Given the description of an element on the screen output the (x, y) to click on. 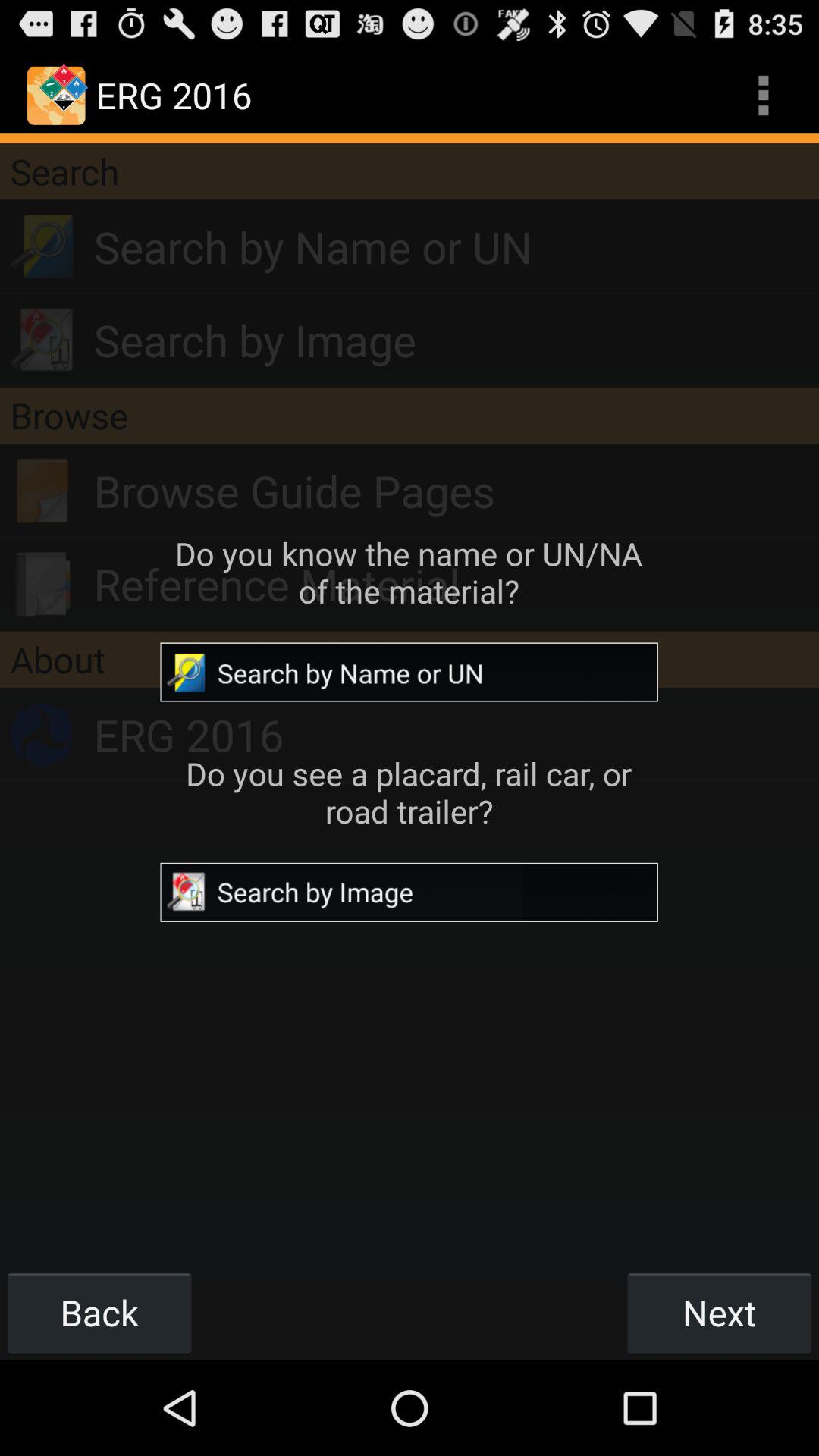
turn on icon to the right of the back icon (719, 1312)
